Given the description of an element on the screen output the (x, y) to click on. 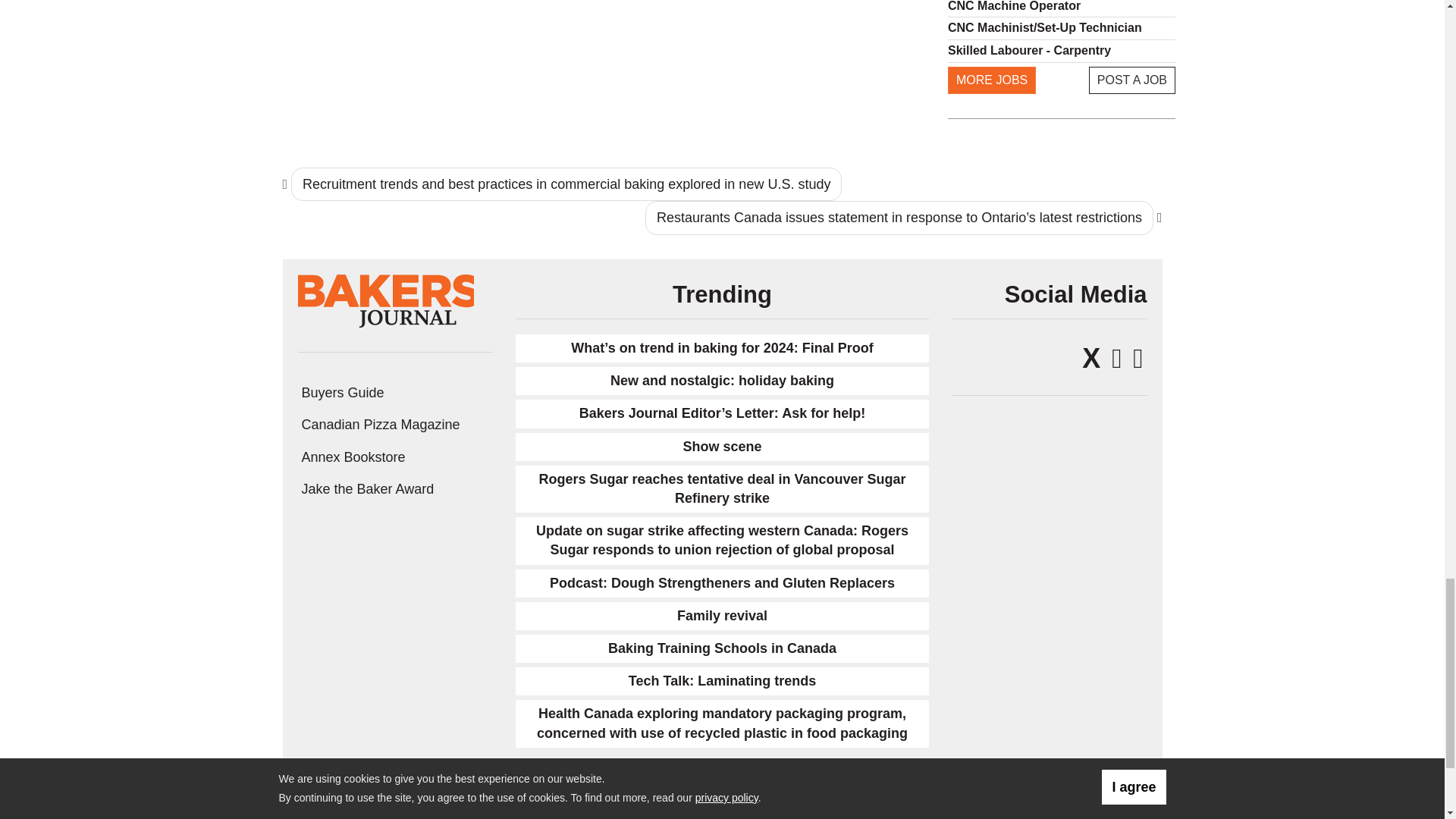
Bakers Journal (386, 299)
Annex Business Media (1077, 812)
